Given the description of an element on the screen output the (x, y) to click on. 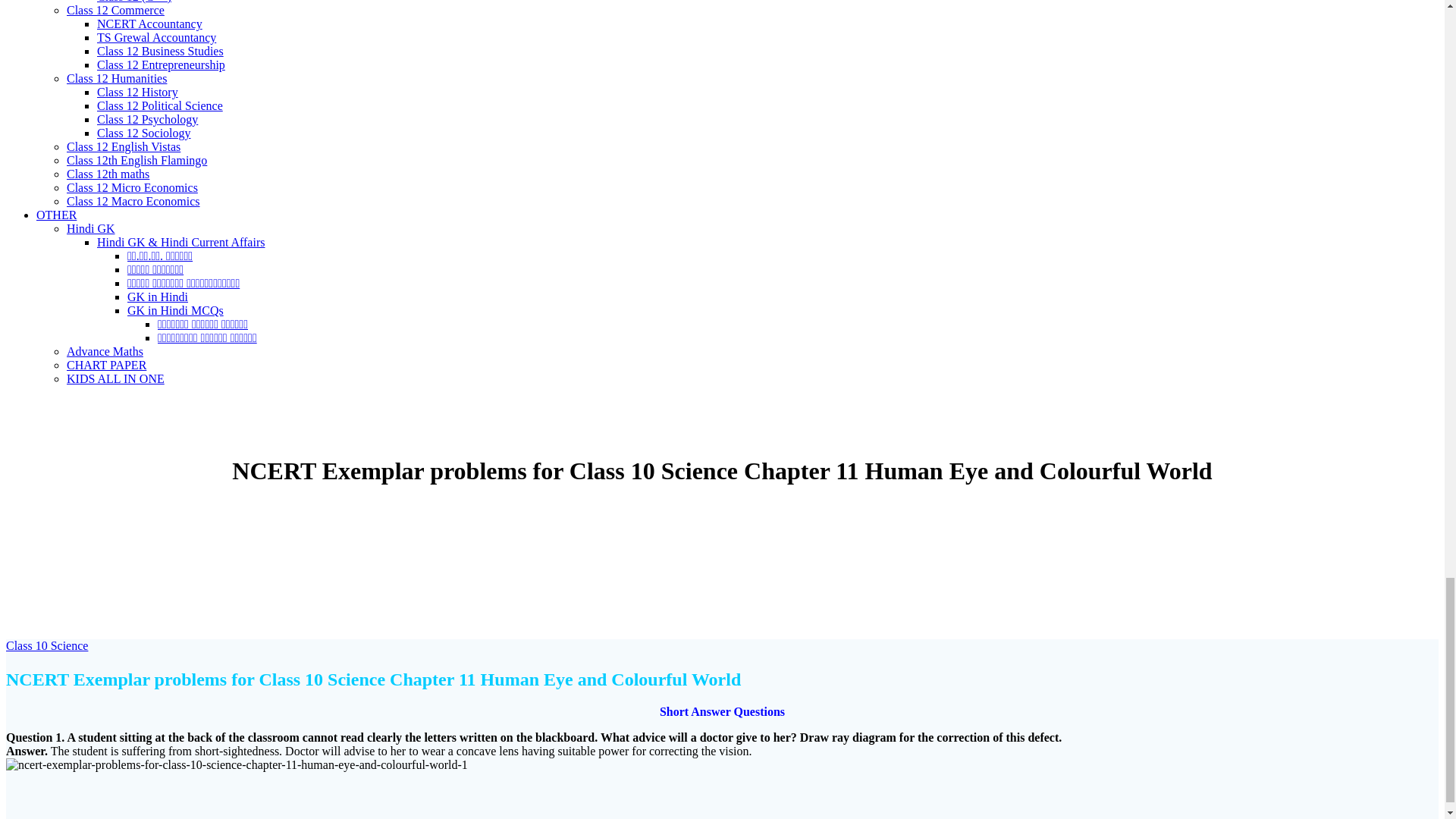
Created with Sketch. (384, 582)
